Given the description of an element on the screen output the (x, y) to click on. 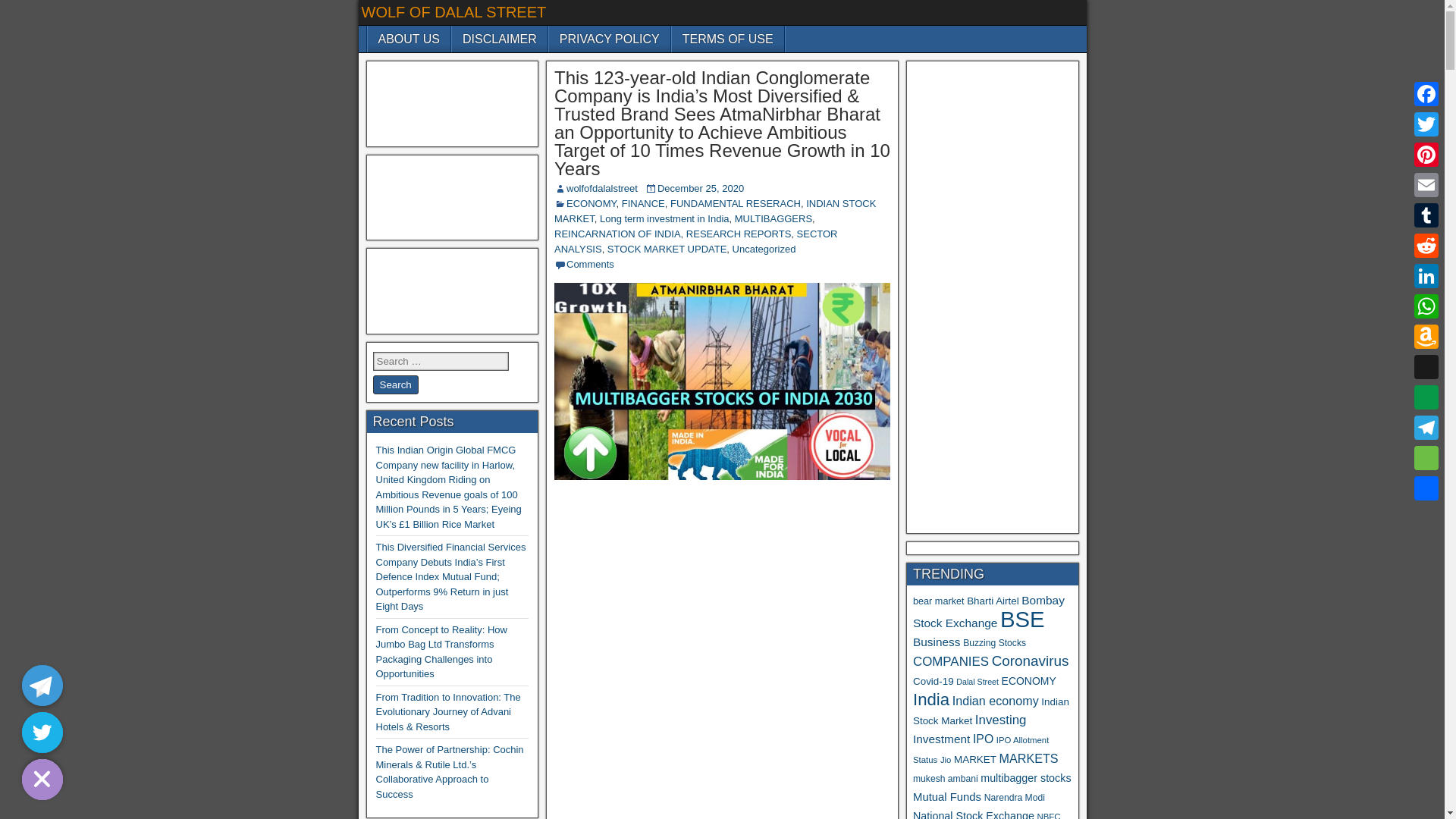
wolfofdalalstreet (601, 188)
INDIAN STOCK MARKET (715, 211)
DISCLAIMER (499, 38)
PRIVACY POLICY (608, 38)
Uncategorized (764, 248)
ECONOMY (590, 203)
REINCARNATION OF INDIA (617, 233)
FINANCE (643, 203)
Search (395, 384)
SECTOR ANALYSIS (695, 241)
